Given the description of an element on the screen output the (x, y) to click on. 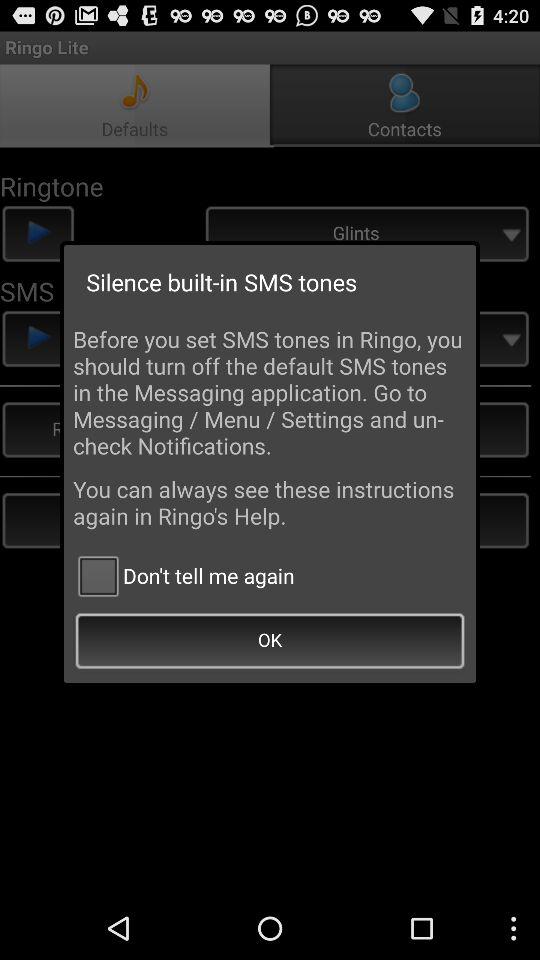
press icon above ok item (183, 575)
